Given the description of an element on the screen output the (x, y) to click on. 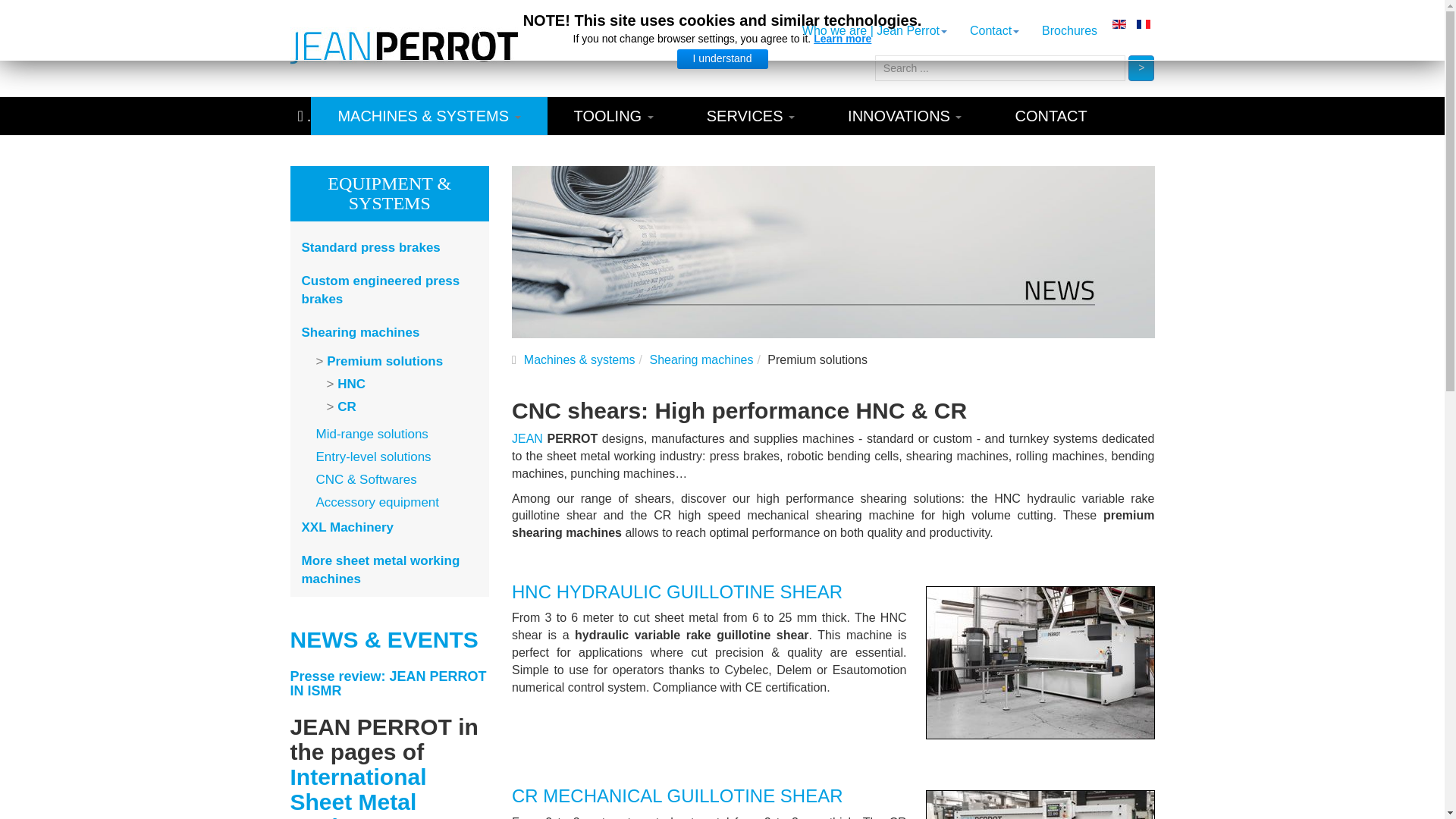
FR (1143, 23)
Jean Perrot - Innovation adapted to your needs (402, 47)
EN (1118, 23)
